Given the description of an element on the screen output the (x, y) to click on. 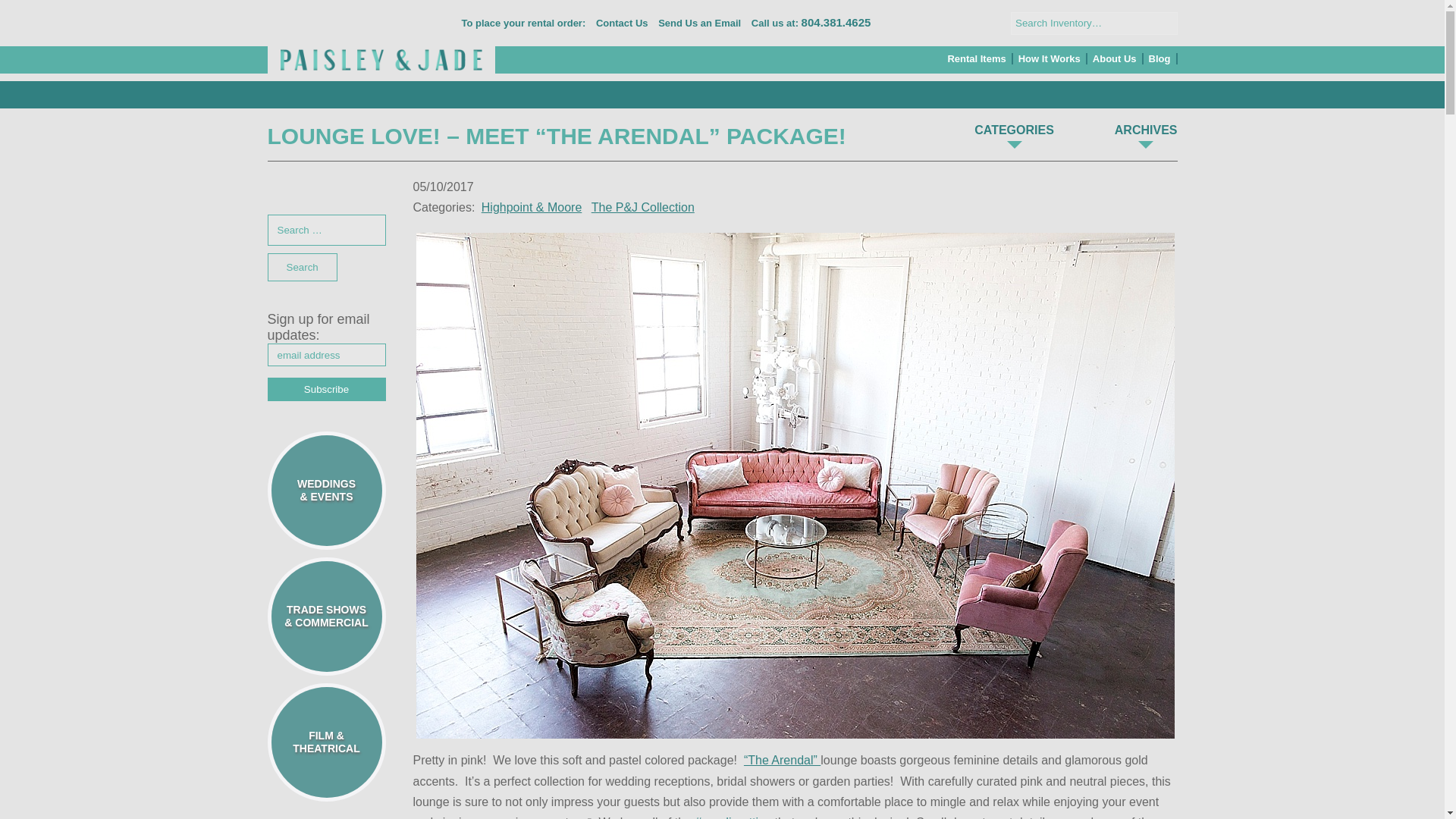
Send Us an Email (699, 22)
About Us (1114, 58)
About Us (1114, 58)
Search (301, 267)
Twitter (932, 23)
Search (1164, 22)
Facebook (907, 23)
Subscribe (325, 389)
Blog (1159, 58)
Contact Us (621, 22)
Search (301, 267)
How It Works (1050, 58)
Search (1164, 22)
Pinterest (956, 23)
Rental Items (976, 58)
